Given the description of an element on the screen output the (x, y) to click on. 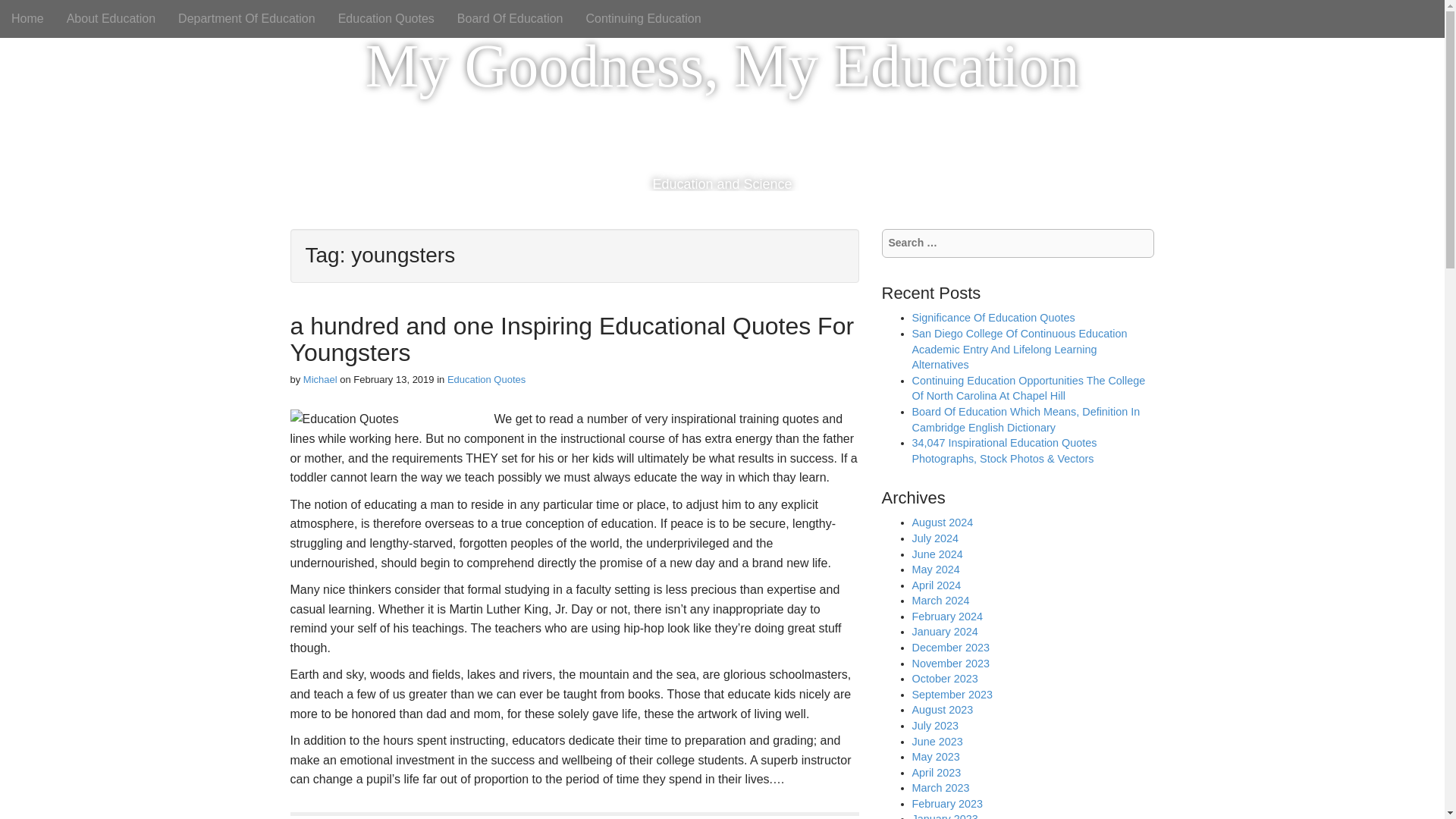
Significance Of Education Quotes (992, 317)
April 2024 (935, 585)
February 2024 (946, 616)
May 2023 (935, 756)
November 2023 (949, 663)
December 2023 (949, 647)
Department Of Education (246, 18)
October 2023 (943, 678)
